Given the description of an element on the screen output the (x, y) to click on. 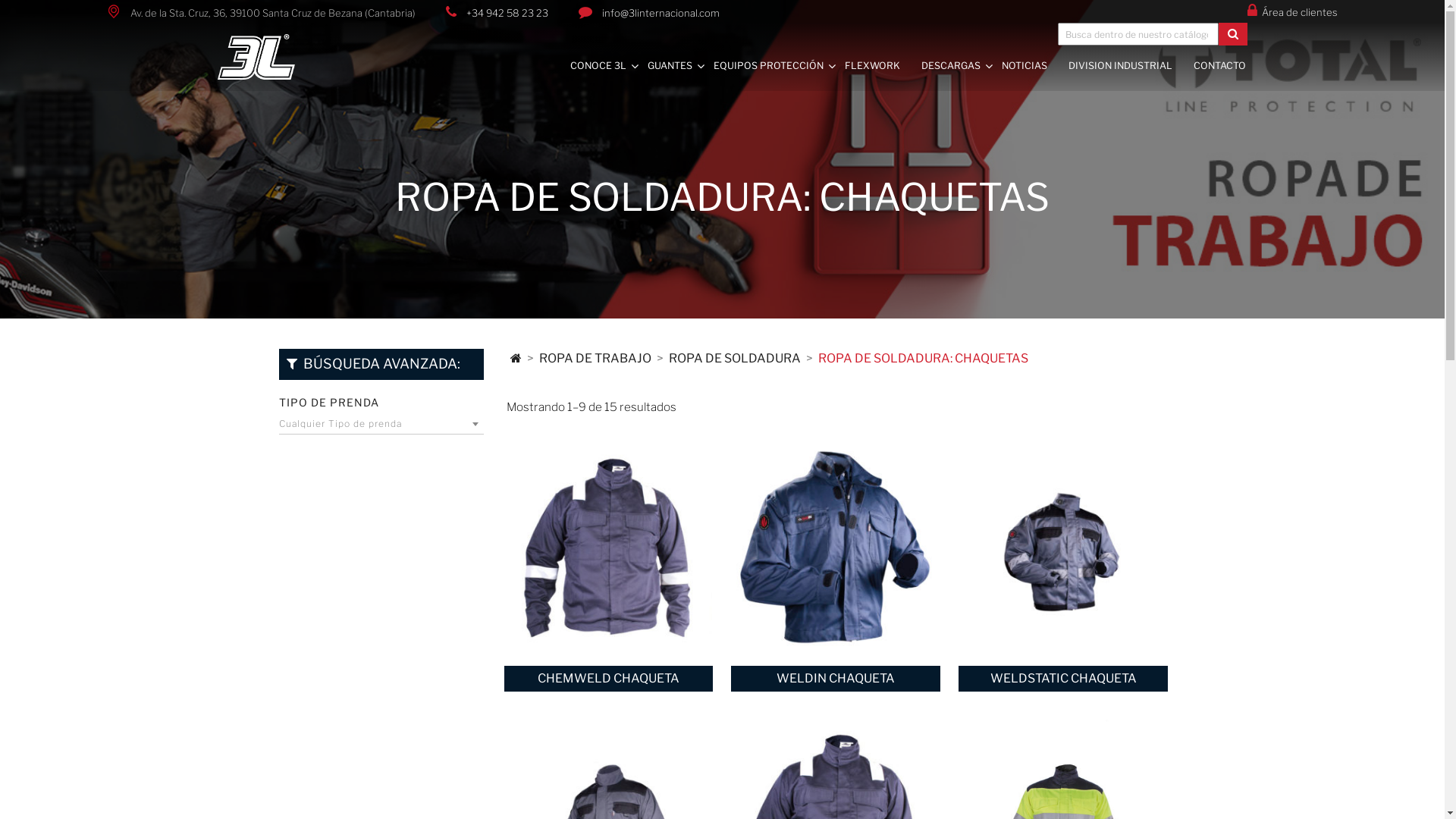
Buscar Element type: hover (1232, 33)
DEPARTAMENTOS Element type: text (756, 153)
CALZADO Element type: text (906, 228)
TRAYECTORIA Element type: text (756, 105)
ROPA DE TRABAJO Element type: text (906, 203)
CONOCE 3L Element type: text (605, 63)
BETTER FIT Element type: text (840, 105)
DIVISION INDUSTRIAL Element type: text (1127, 63)
GUANTES Element type: text (677, 63)
DESCARGAS Element type: text (958, 63)
+34 942 58 23 23 Element type: text (506, 12)
CONTACTO Element type: text (1227, 63)
NOTICIAS Element type: text (1031, 63)
ESPECIALES Element type: text (840, 301)
PROTECCION CABEZA Element type: text (906, 178)
info@3linternacional.com Element type: text (660, 12)
SIN SOPORTE Element type: text (840, 203)
FLEXWORK Element type: text (879, 63)
ALIMENTARIOS Element type: text (840, 228)
FINANZAS Element type: text (756, 294)
ROPA DE SOLDADURA Element type: text (734, 358)
BRICOTEC Element type: text (840, 325)
VISION-MISION Element type: text (756, 129)
DESECHABLES Element type: text (840, 252)
ROPA DE SOLDADURA: CHAQUETAS Element type: text (922, 358)
DECLARACIONES DE CONFORMIDAD Element type: text (1113, 105)
CERTIFICADOS DE CALIDAD Element type: text (1113, 129)
ALMACEN Y LOGISTICA Element type: text (756, 319)
ROPA DE TRABAJO Element type: text (594, 358)
LABORATORIO Y CONTROL DE CALIDAD Element type: text (756, 264)
COMPRAS Y PRODUCCION Element type: text (756, 344)
